Given the description of an element on the screen output the (x, y) to click on. 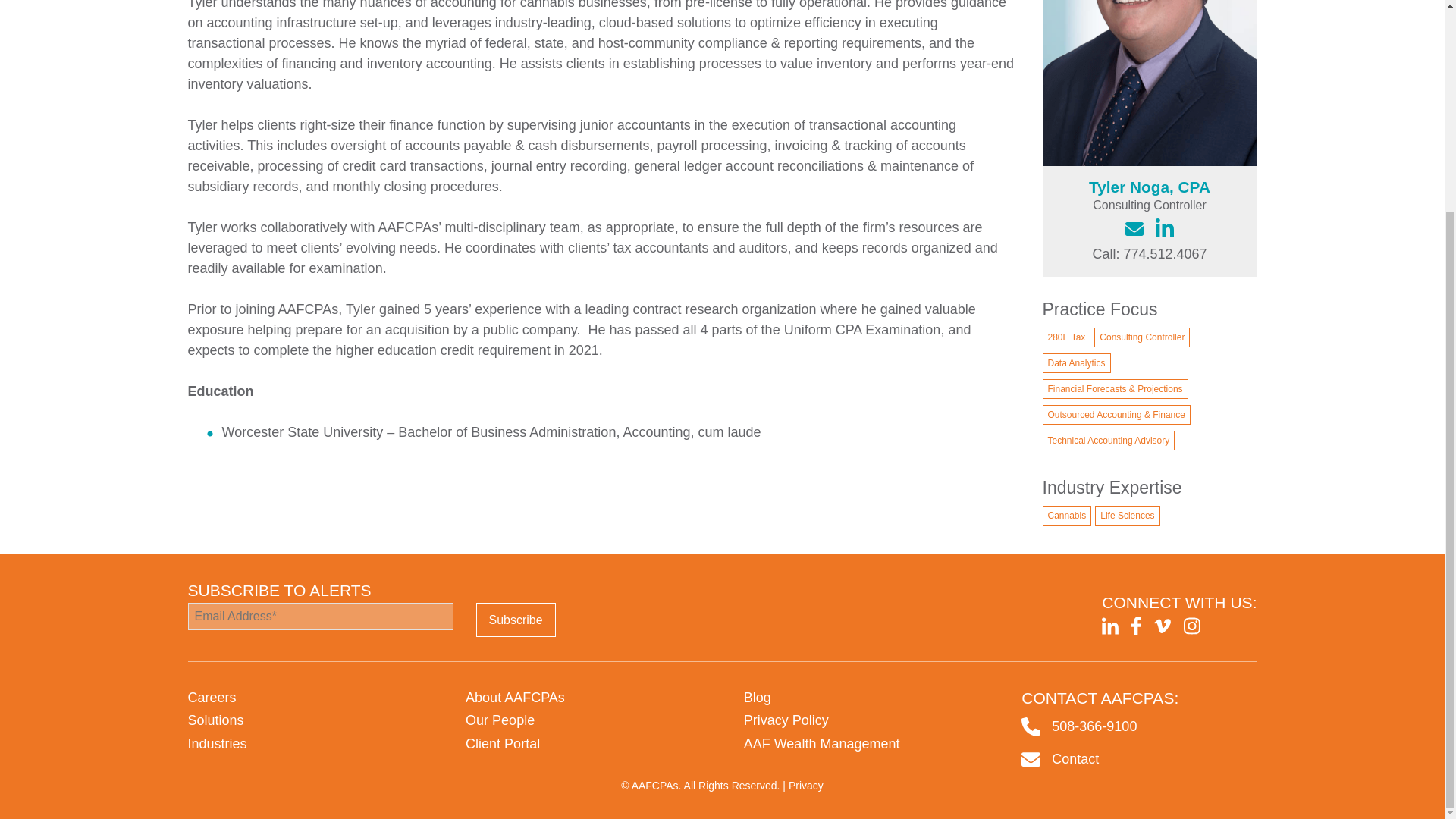
Subscribe (516, 619)
